Given the description of an element on the screen output the (x, y) to click on. 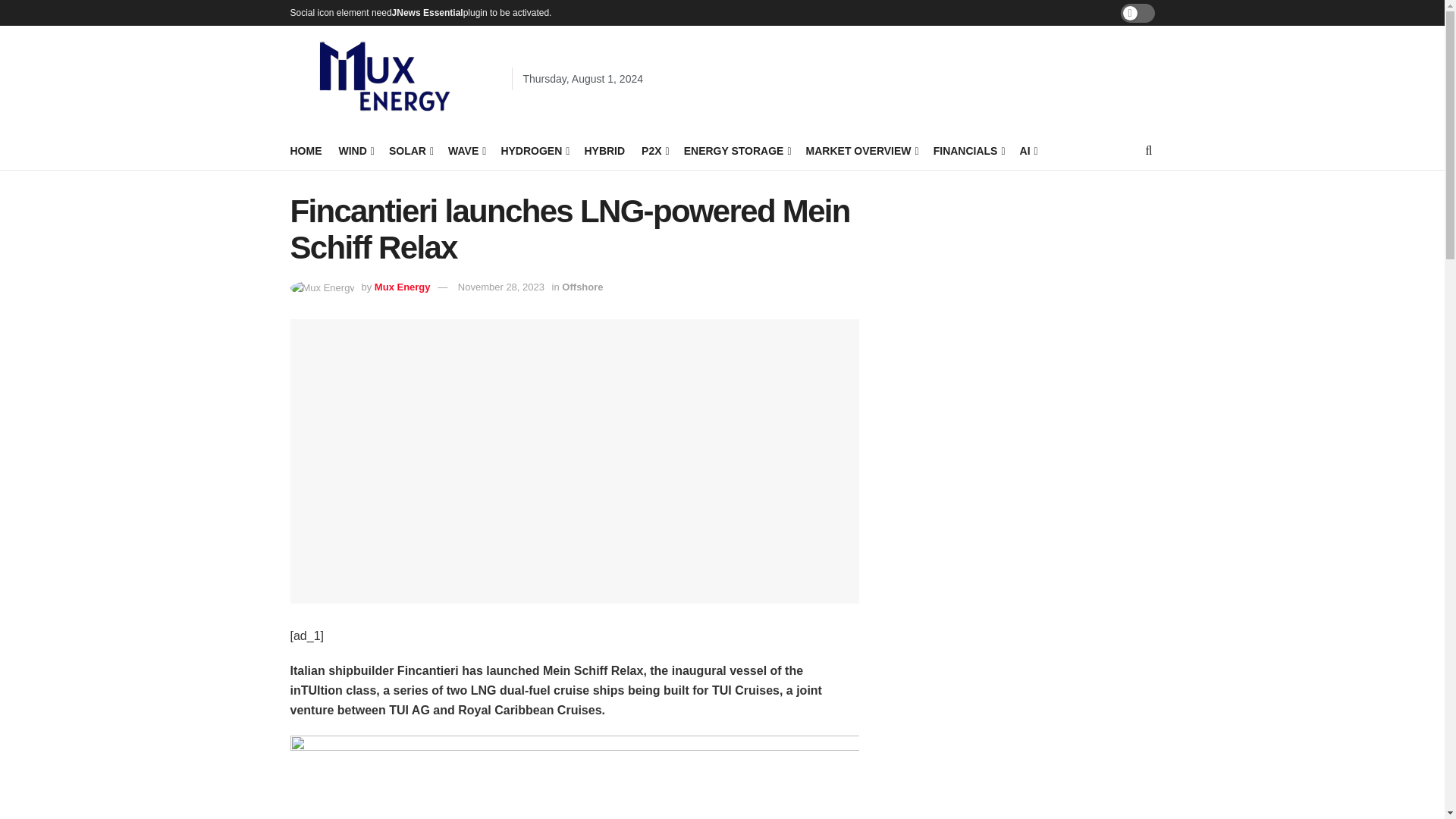
ENERGY STORAGE (736, 150)
HOME (305, 150)
MARKET OVERVIEW (861, 150)
WAVE (465, 150)
P2X (654, 150)
HYDROGEN (533, 150)
SOLAR (409, 150)
FINANCIALS (968, 150)
WIND (354, 150)
HYBRID (603, 150)
